Given the description of an element on the screen output the (x, y) to click on. 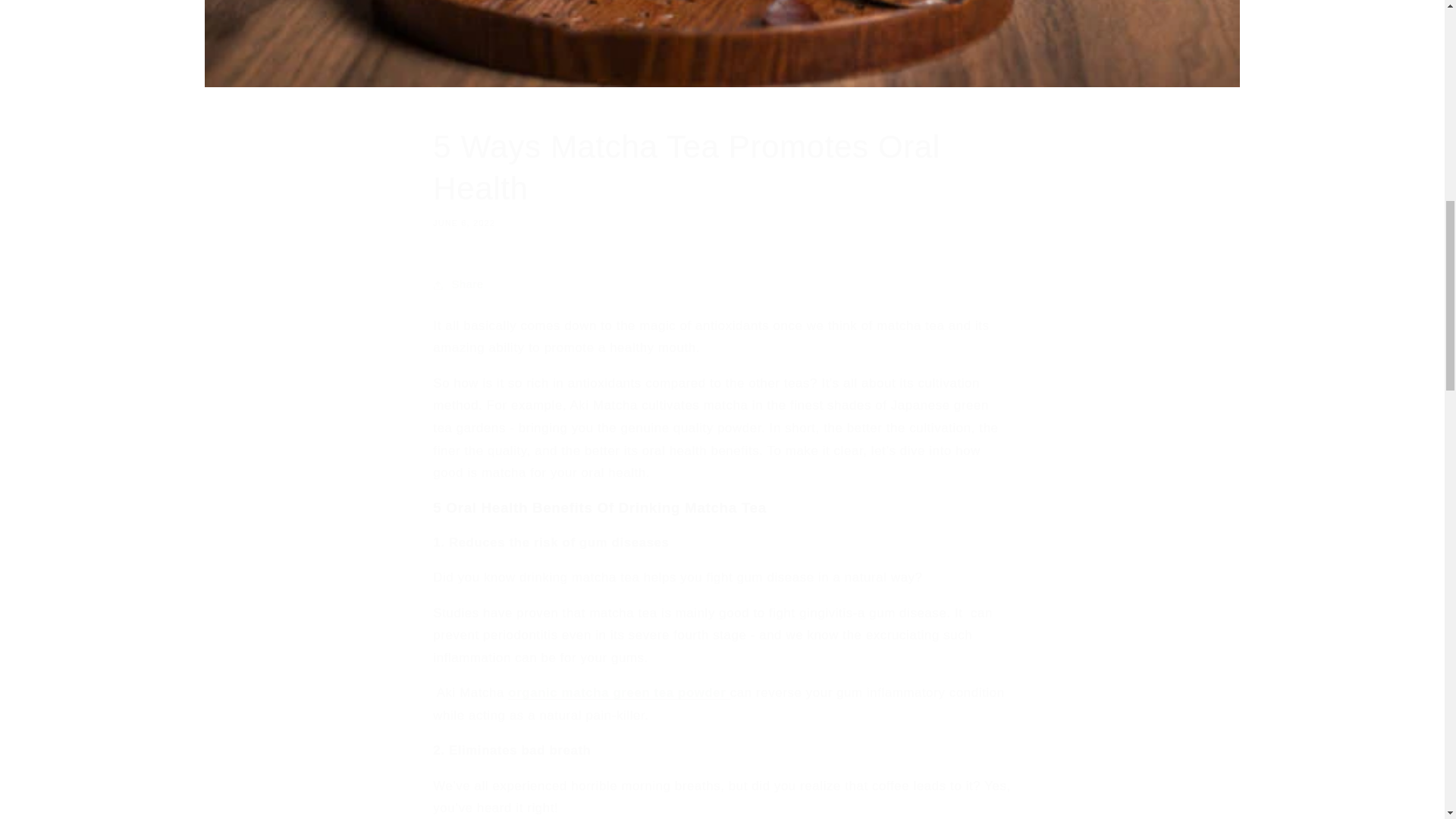
Share (721, 284)
organic matcha green tea powder  (618, 692)
